Given the description of an element on the screen output the (x, y) to click on. 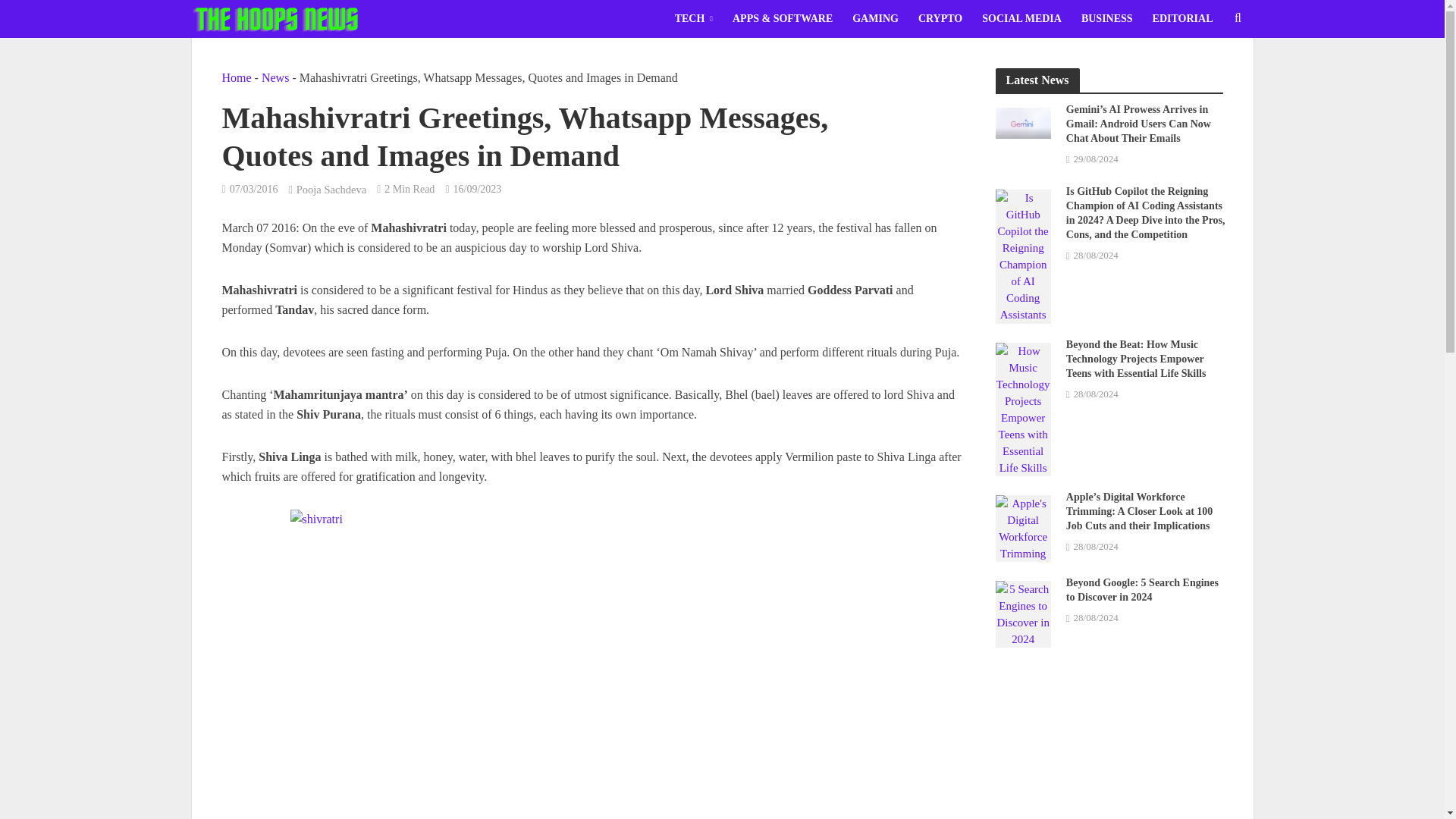
BUSINESS (1106, 18)
News (275, 77)
EDITORIAL (1182, 18)
CRYPTO (940, 18)
Pooja Sachdeva (331, 191)
SOCIAL MEDIA (1021, 18)
GAMING (875, 18)
